Given the description of an element on the screen output the (x, y) to click on. 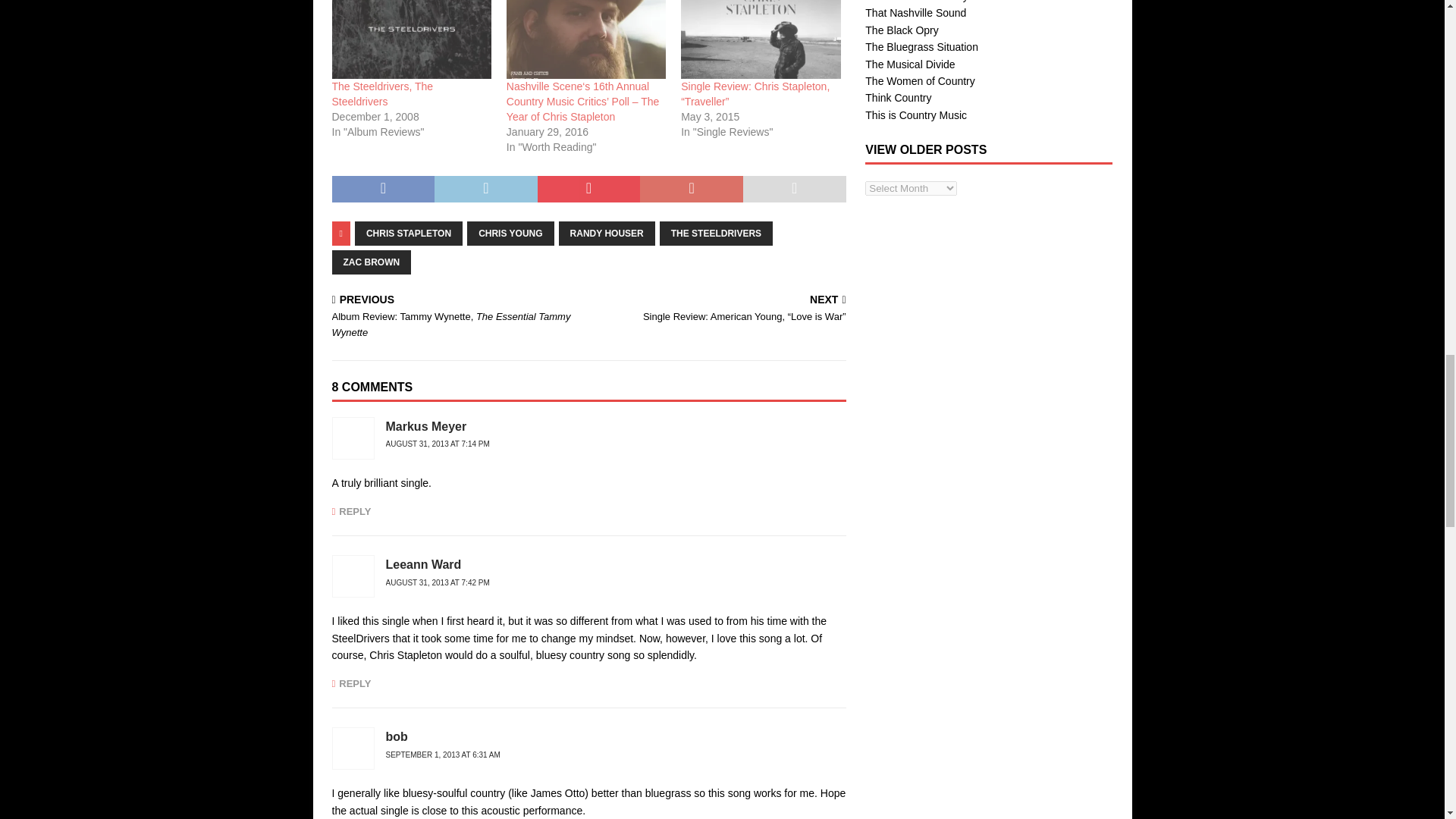
The Steeldrivers, The Steeldrivers (411, 39)
The Steeldrivers, The Steeldrivers (382, 93)
